Given the description of an element on the screen output the (x, y) to click on. 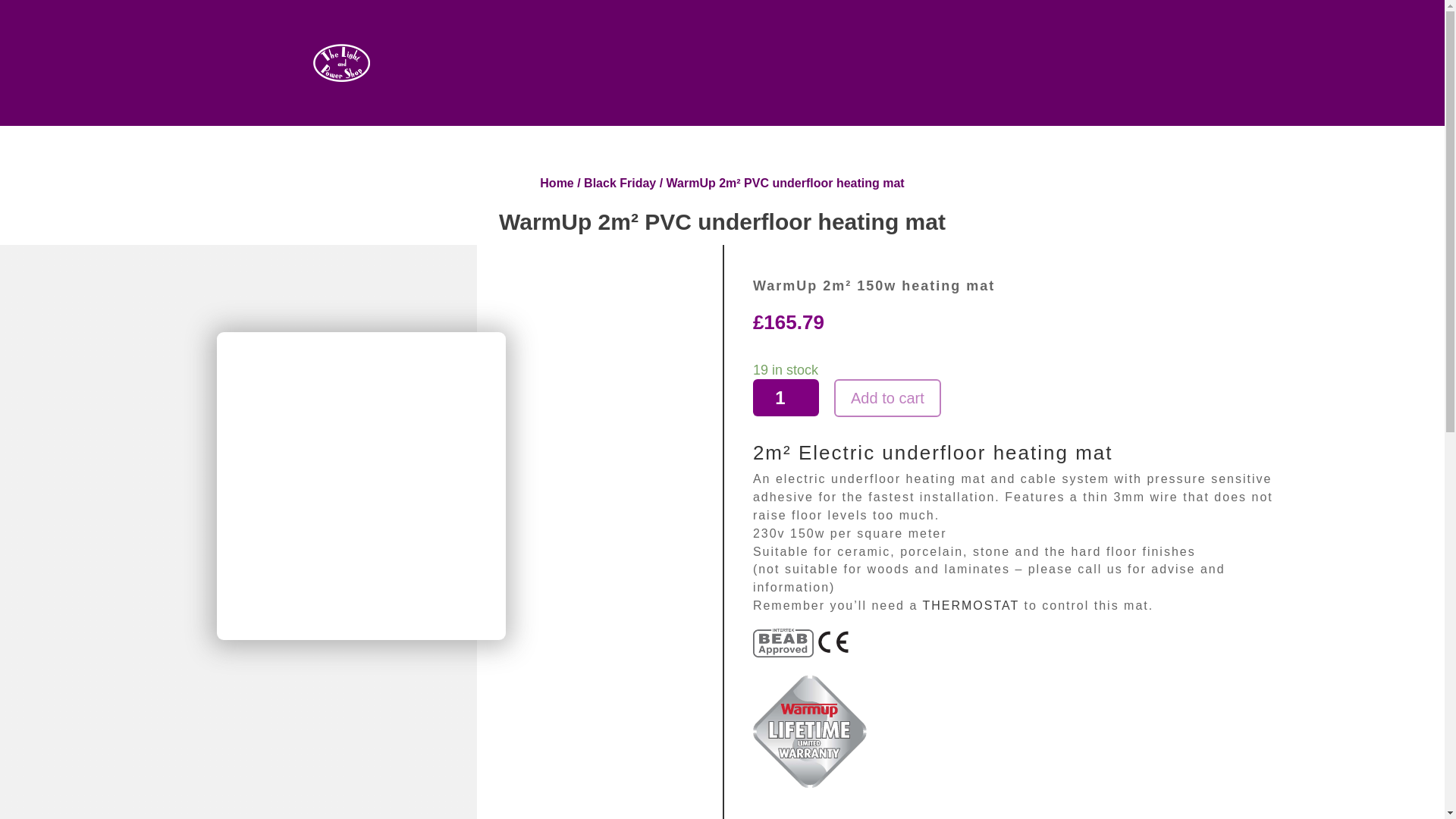
1 (785, 397)
Add to cart (887, 397)
Search (1343, 36)
Home (556, 182)
Black Friday (619, 182)
Search (1343, 36)
Search (1343, 36)
Qty (785, 397)
THERMOSTAT (970, 604)
